Given the description of an element on the screen output the (x, y) to click on. 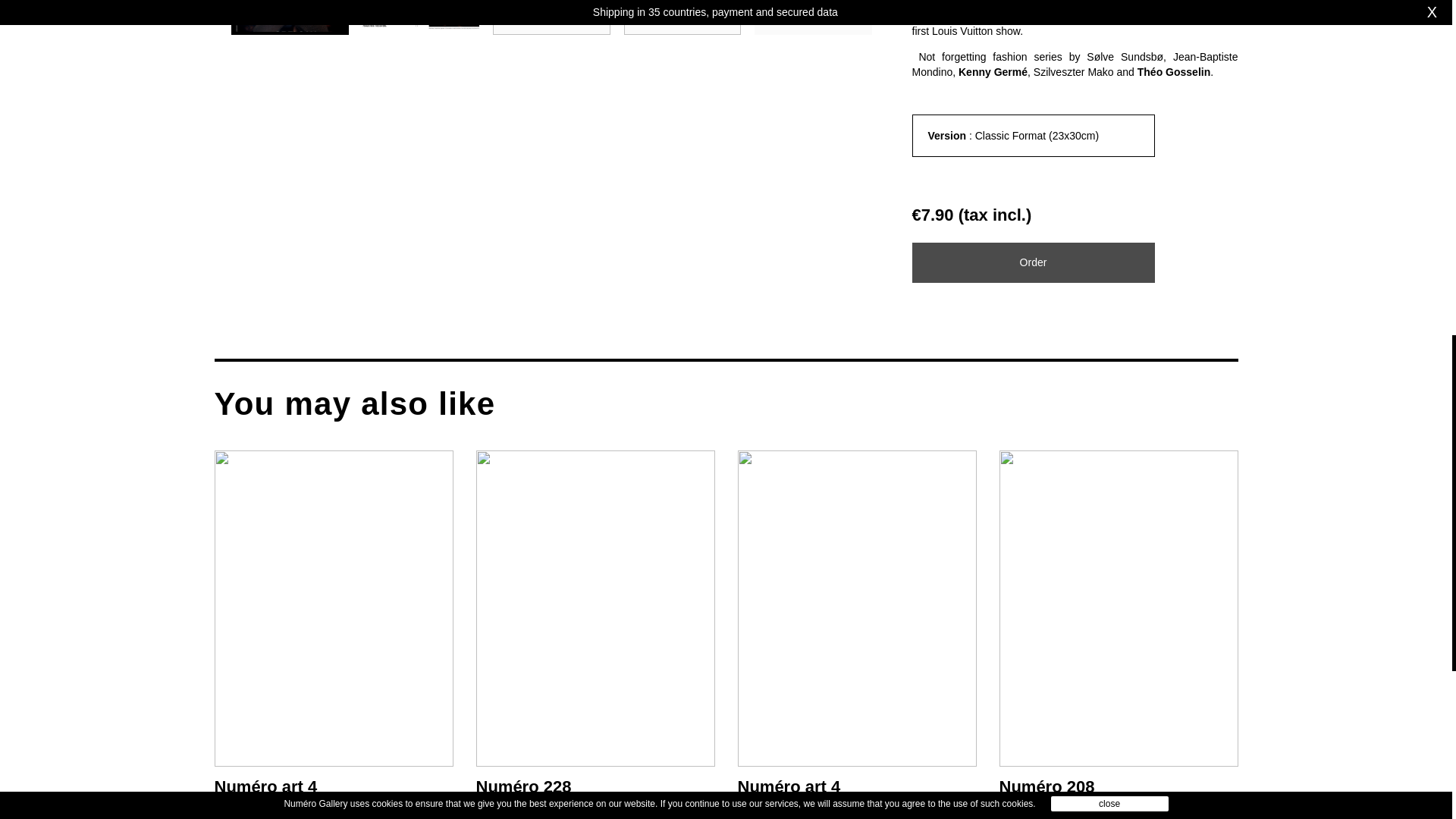
Pierre de Maere (1126, 3)
Szilveszter Mako (1073, 71)
Louis Vuitton (961, 30)
Order (1032, 262)
Jean-Baptiste Mondino (1074, 63)
Pharrell Williams (1161, 15)
